Given the description of an element on the screen output the (x, y) to click on. 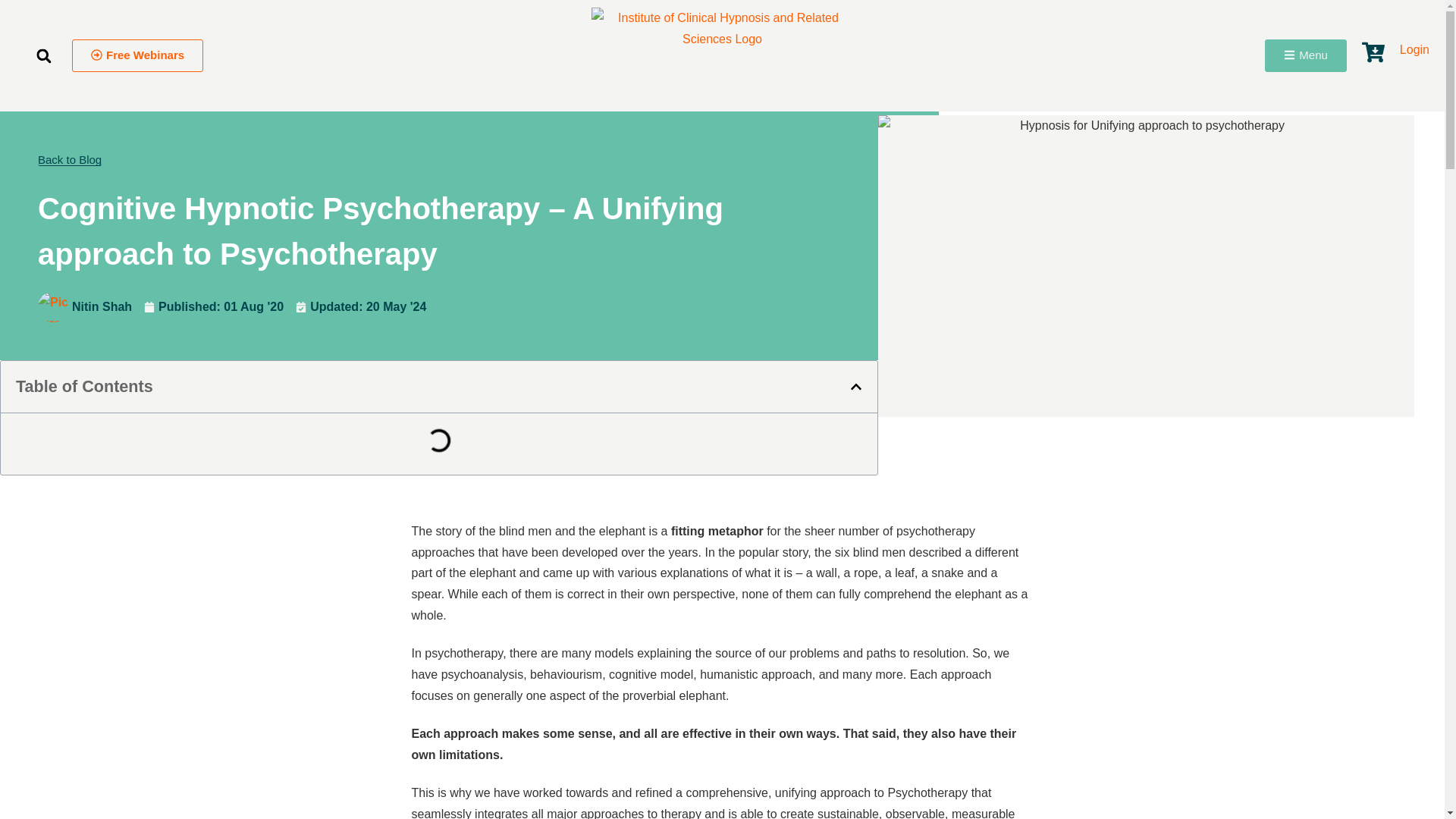
Menu (1305, 55)
Login (1414, 49)
Back to Blog (69, 159)
Free Webinars (137, 55)
Coaching-psychotherapy-diploma-with-ICHARS-Logo (722, 55)
Nitin Shah (84, 306)
